Given the description of an element on the screen output the (x, y) to click on. 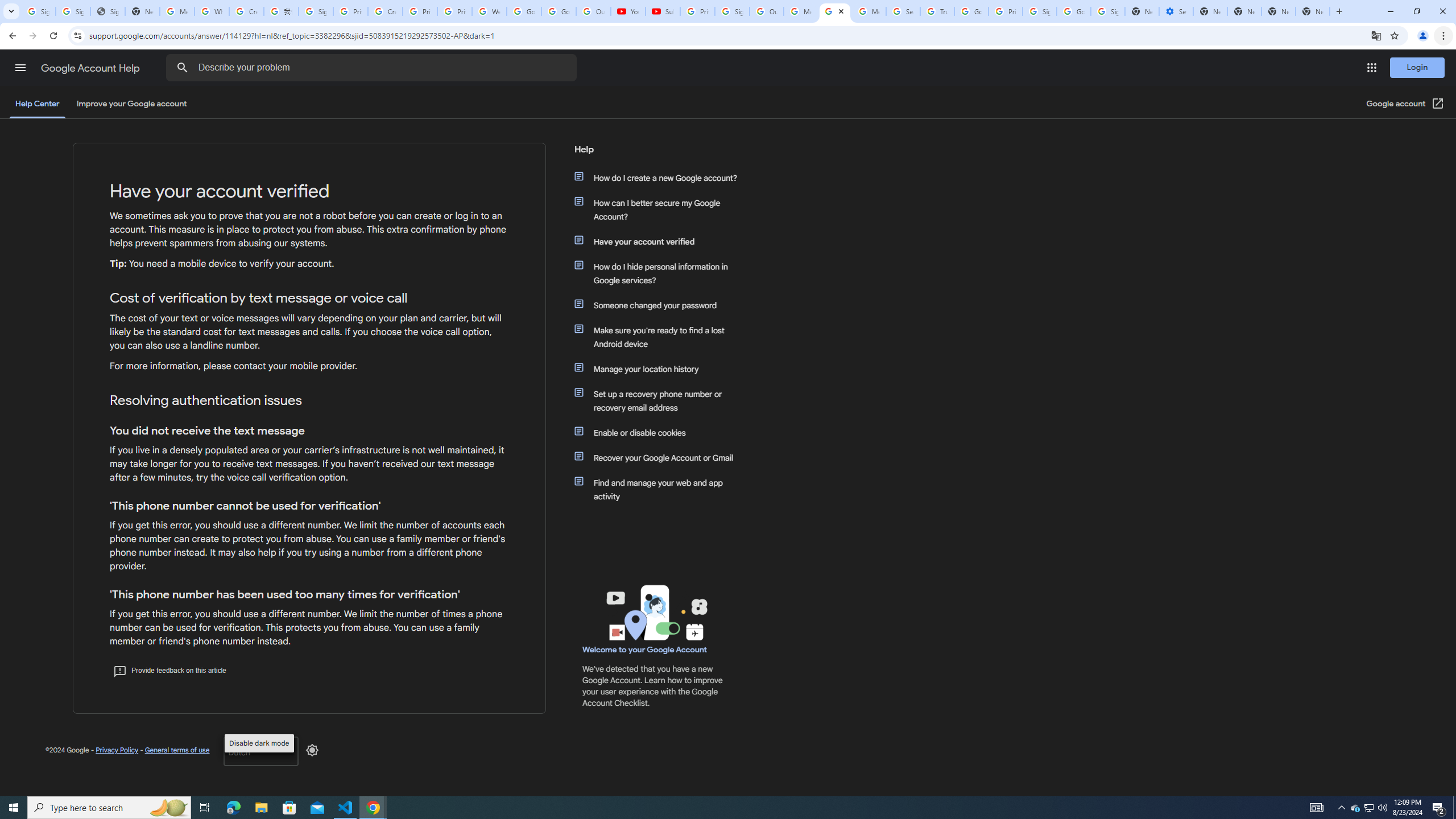
Recover your Google Account or Gmail (661, 457)
Google Ads - Sign in (970, 11)
Improve your Google account (131, 103)
Sign in - Google Accounts (1107, 11)
Subscriptions - YouTube (662, 11)
Google Cybersecurity Innovations - Google Safety Center (1073, 11)
Create your Google Account (384, 11)
